Given the description of an element on the screen output the (x, y) to click on. 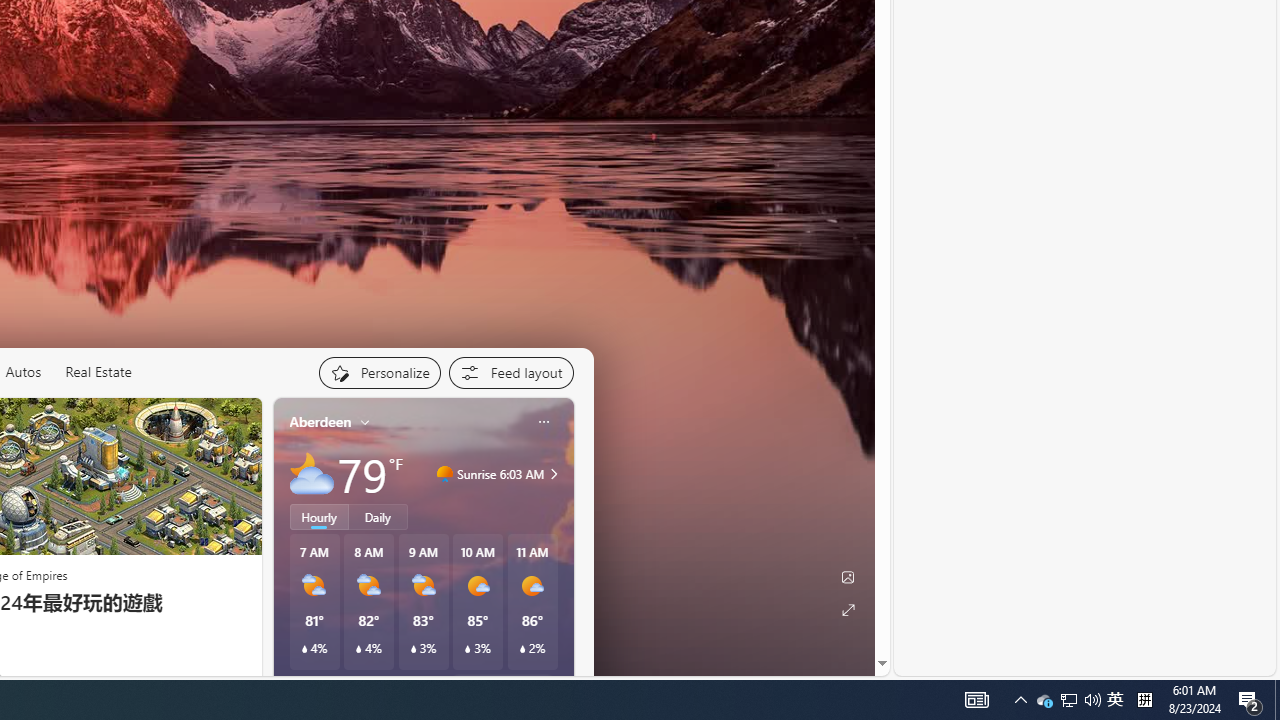
Edit Background (847, 577)
Mostly cloudy (311, 474)
Class: icon-img (543, 421)
Real Estate (98, 371)
Feed settings (510, 372)
Personalize your feed" (379, 372)
Expand background (847, 610)
